Given the description of an element on the screen output the (x, y) to click on. 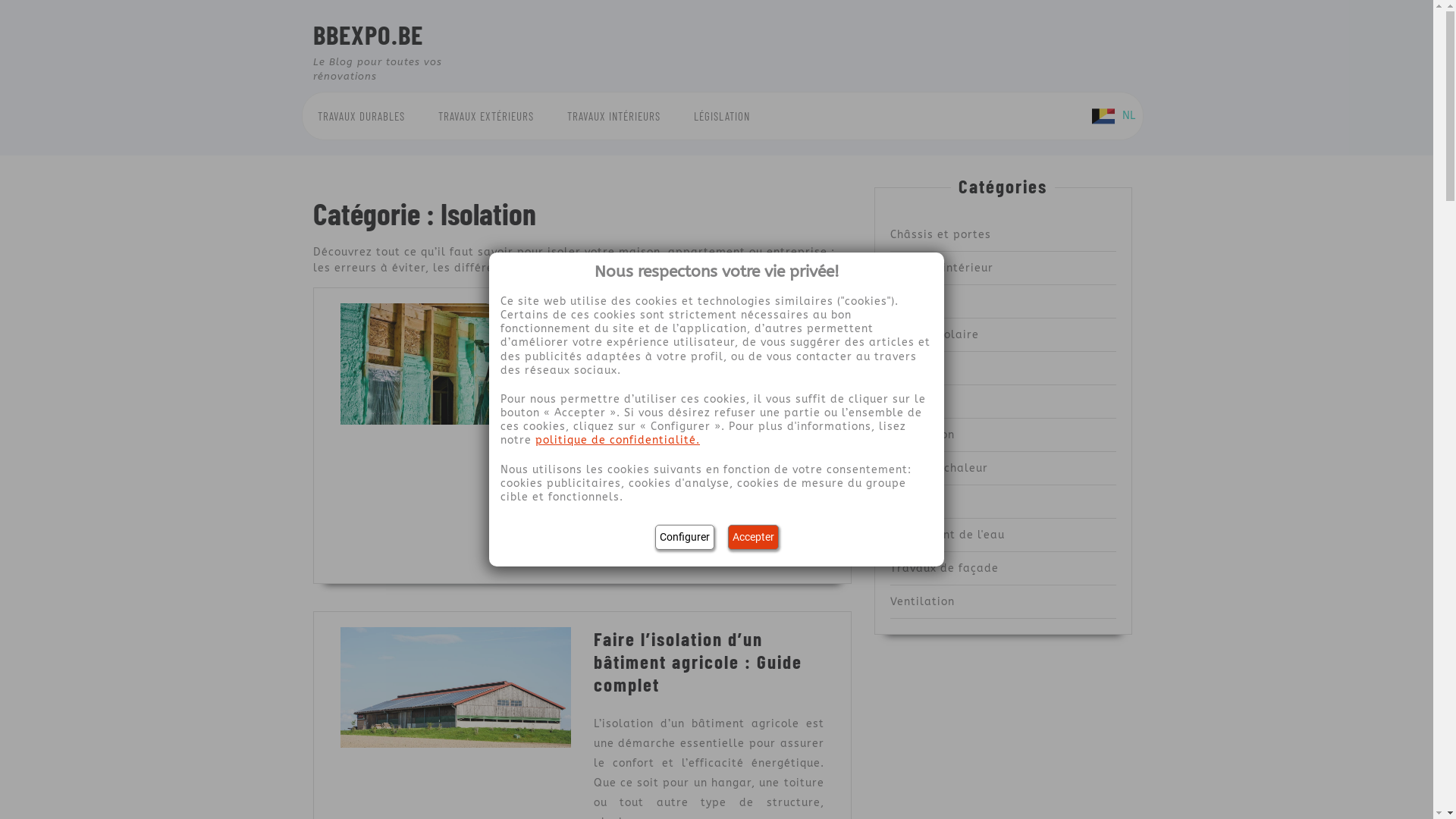
Configurer Element type: text (684, 536)
BBEXPO.BE Element type: text (367, 34)
Traitement de l'eau Element type: text (947, 534)
Toiture Element type: text (910, 501)
Accepter Element type: text (753, 536)
Isolation Element type: text (915, 401)
Energie Solaire Element type: text (934, 334)
TRAVAUX DURABLES Element type: text (360, 116)
Ventilation Element type: text (922, 601)
NL Element type: text (1113, 115)
READ MORE
READ MORE Element type: text (641, 543)
Ecologie Element type: text (914, 300)
